Given the description of an element on the screen output the (x, y) to click on. 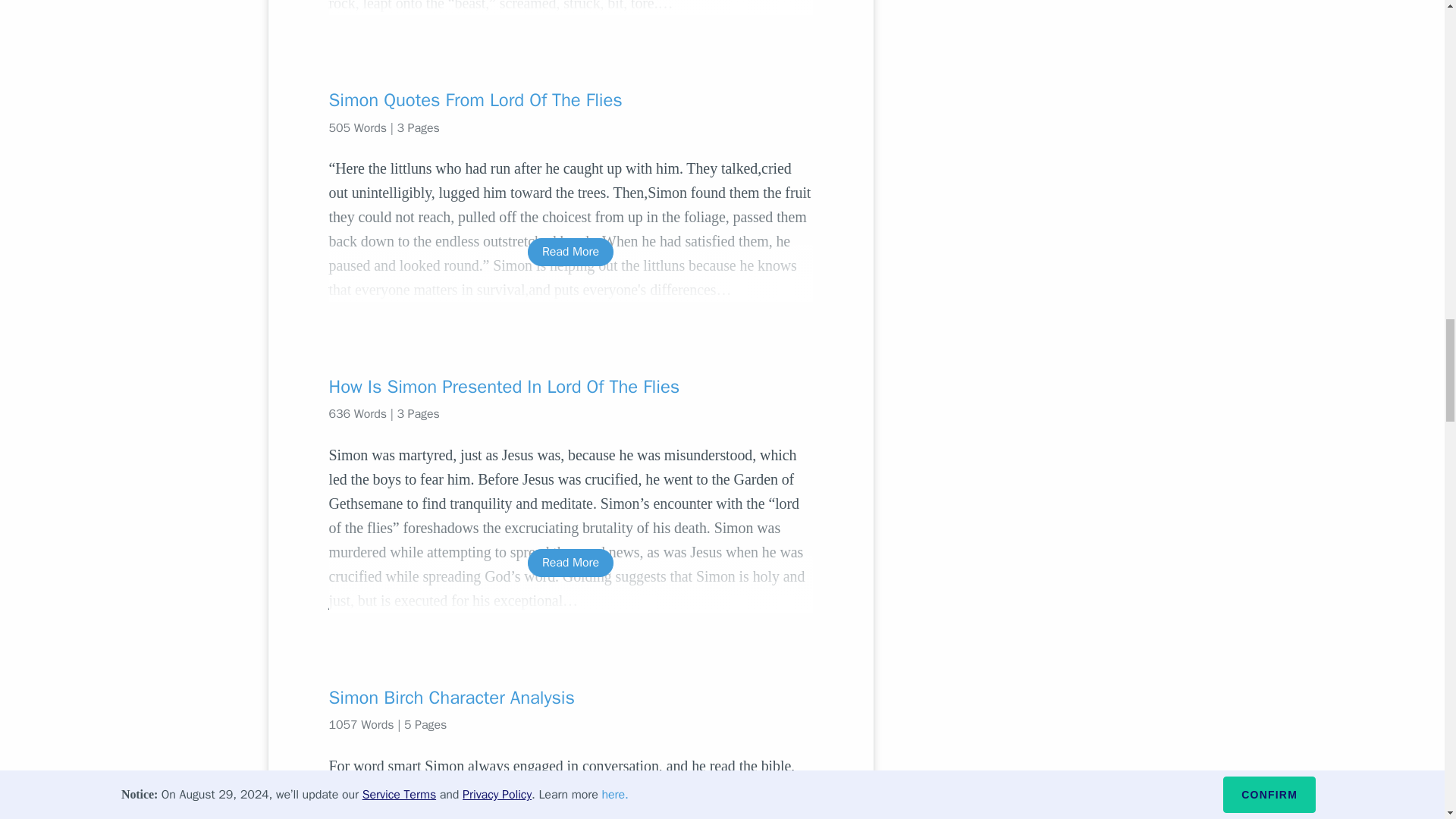
Simon Quotes From Lord Of The Flies (570, 99)
Simon Birch Character Analysis (570, 697)
Read More (569, 252)
How Is Simon Presented In Lord Of The Flies (570, 386)
Read More (569, 562)
